Given the description of an element on the screen output the (x, y) to click on. 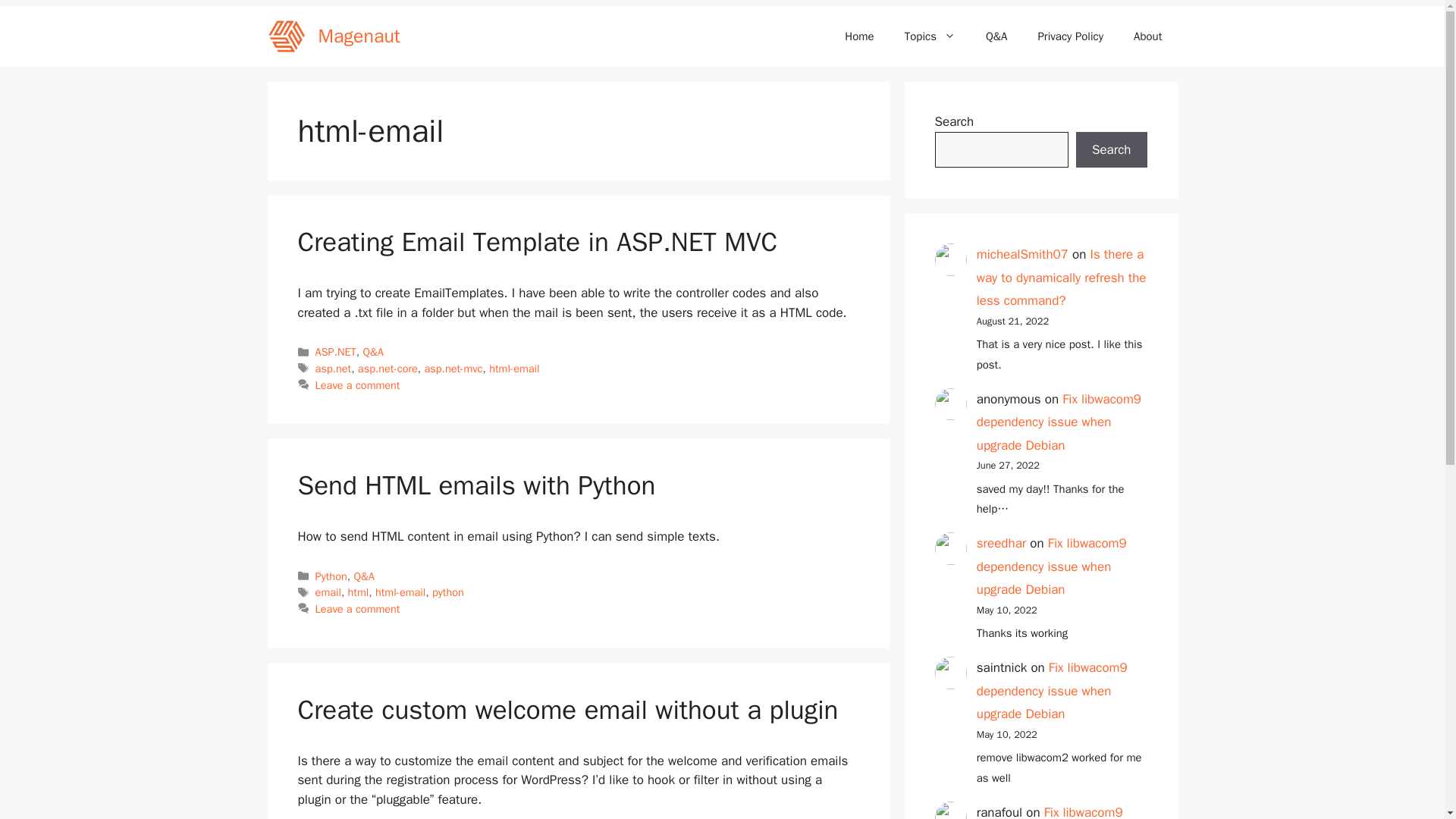
Send HTML emails with Python (476, 485)
Python (331, 576)
Create custom welcome email without a plugin (567, 709)
email (327, 591)
html-email (400, 591)
html-email (513, 368)
python (448, 591)
Privacy Policy (1070, 35)
About (1147, 35)
Home (858, 35)
Leave a comment (357, 608)
Topics (930, 35)
ASP.NET (335, 351)
Magenaut (359, 35)
html (358, 591)
